Given the description of an element on the screen output the (x, y) to click on. 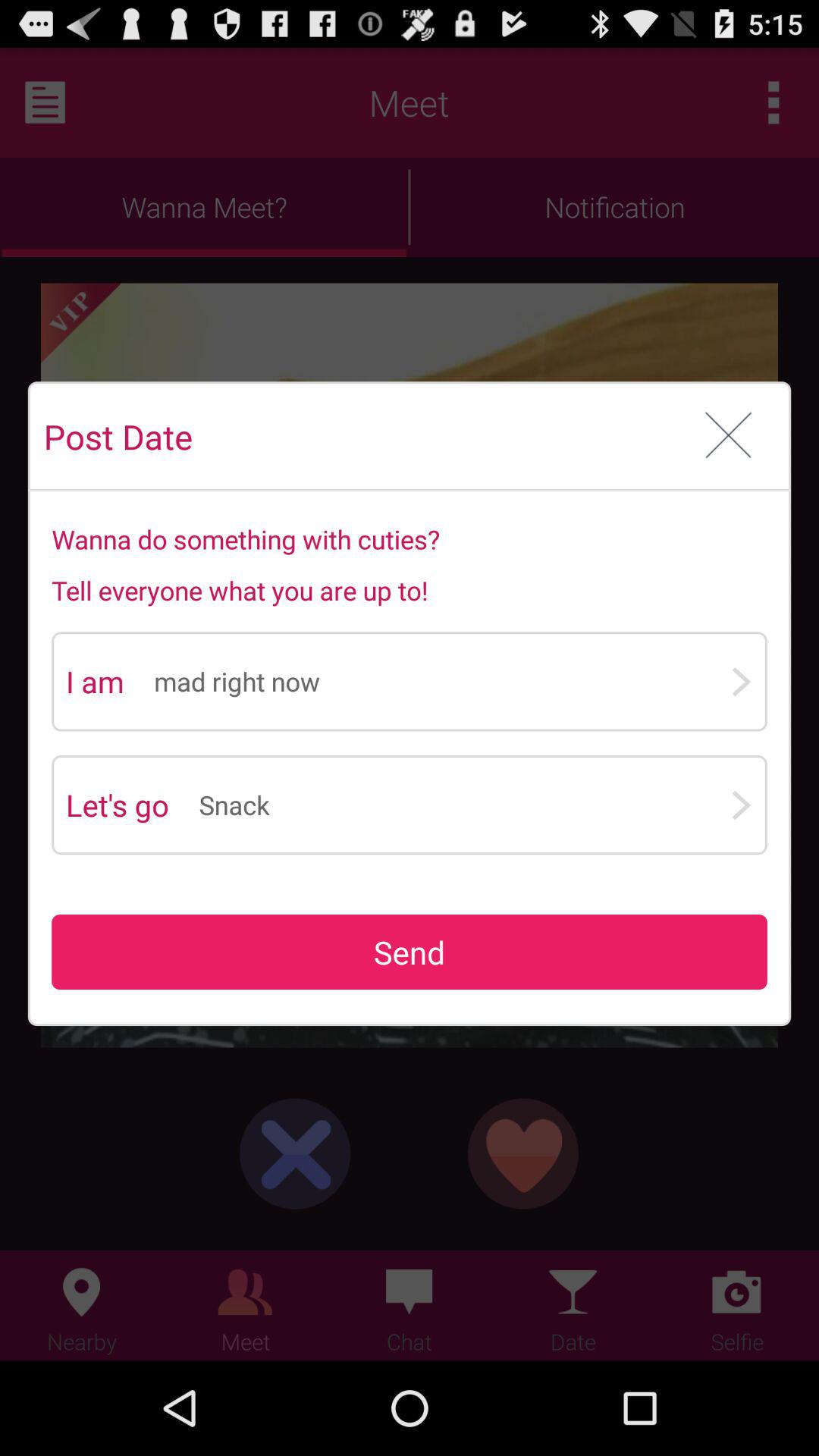
open app above snack icon (442, 681)
